Given the description of an element on the screen output the (x, y) to click on. 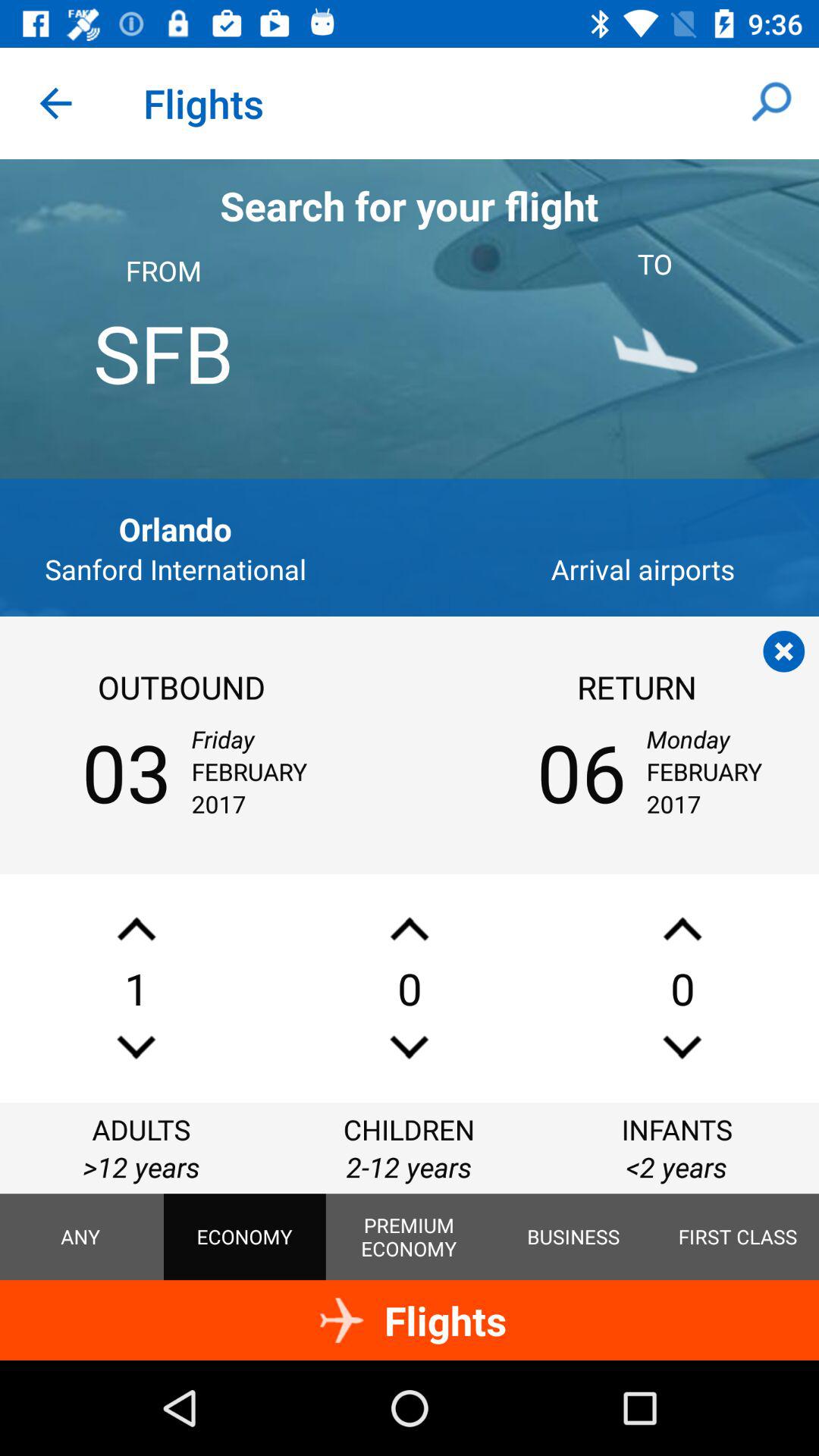
decrease number (682, 928)
